Given the description of an element on the screen output the (x, y) to click on. 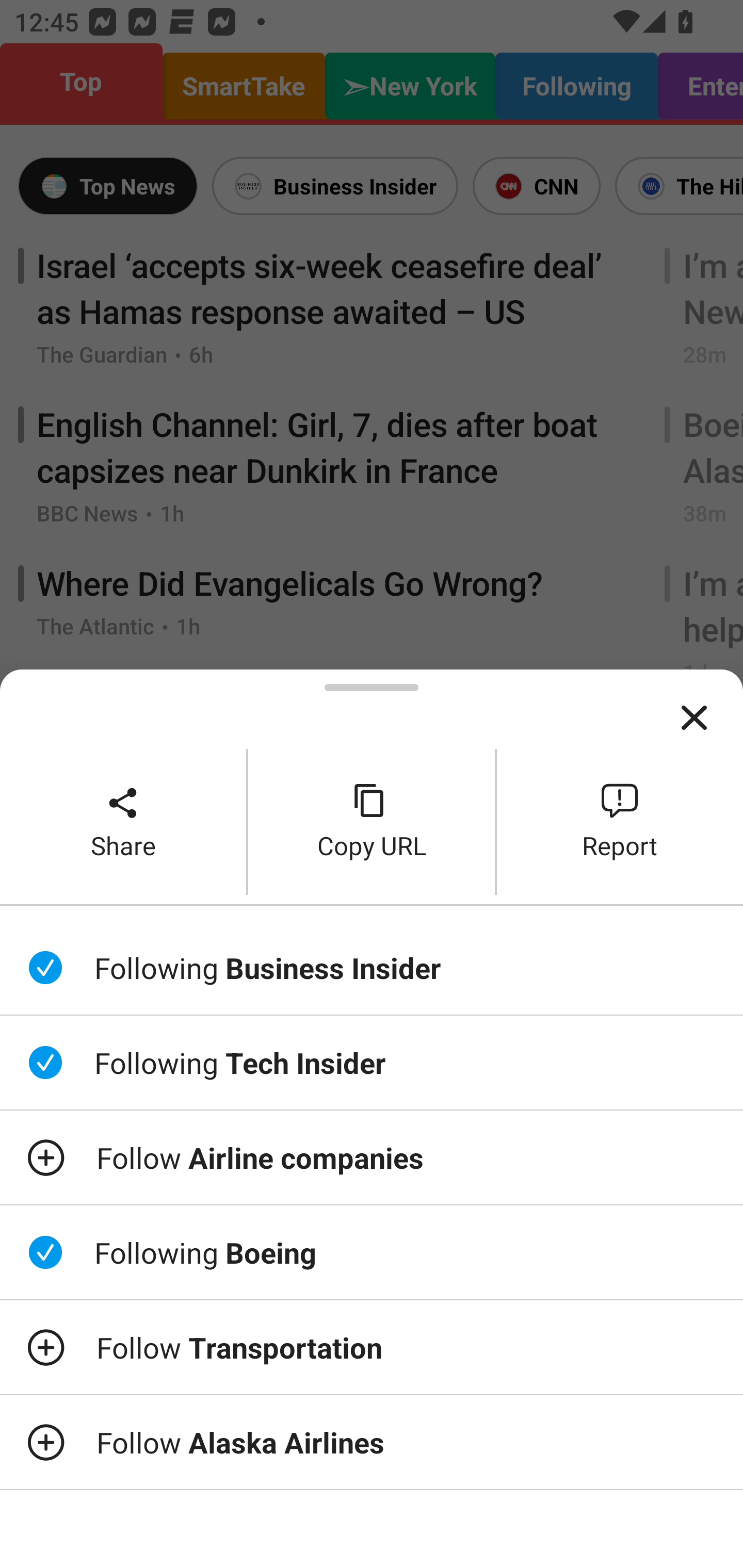
Close (694, 717)
Share (122, 822)
Copy URL (371, 822)
Report (620, 822)
Following Business Insider (371, 967)
Following Tech Insider (371, 1063)
Follow Airline companies (371, 1157)
Following Boeing (371, 1252)
Follow Transportation (371, 1346)
Follow Alaska Airlines (371, 1442)
